Given the description of an element on the screen output the (x, y) to click on. 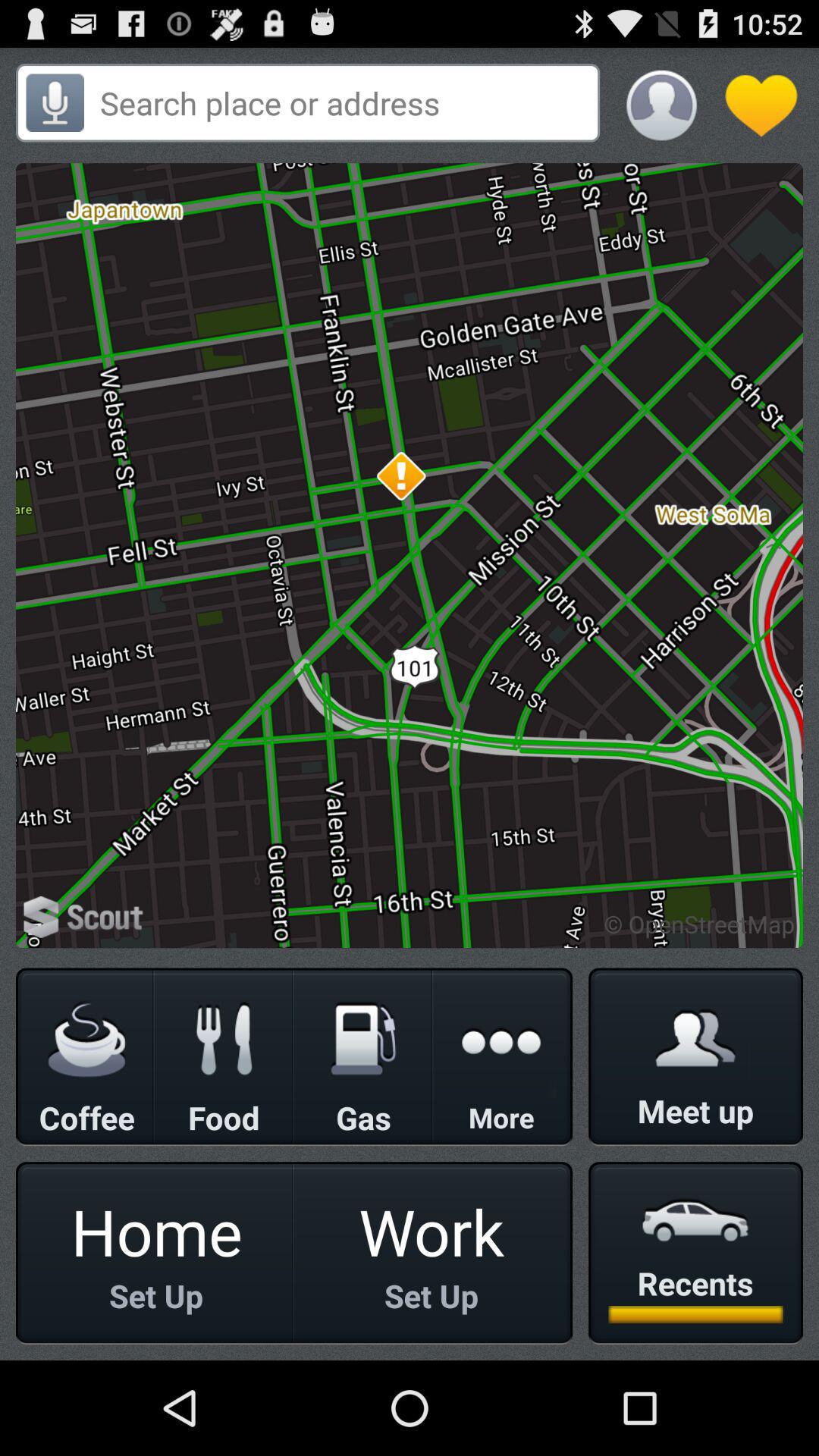
click on the user icon which is above the text meet up (695, 1037)
click on the icon which is above the food option (224, 1039)
select coffee icon whcih is below scout on the page (86, 1039)
select mic or speaker phone button which is on the top left corner of the page (55, 103)
